Given the description of an element on the screen output the (x, y) to click on. 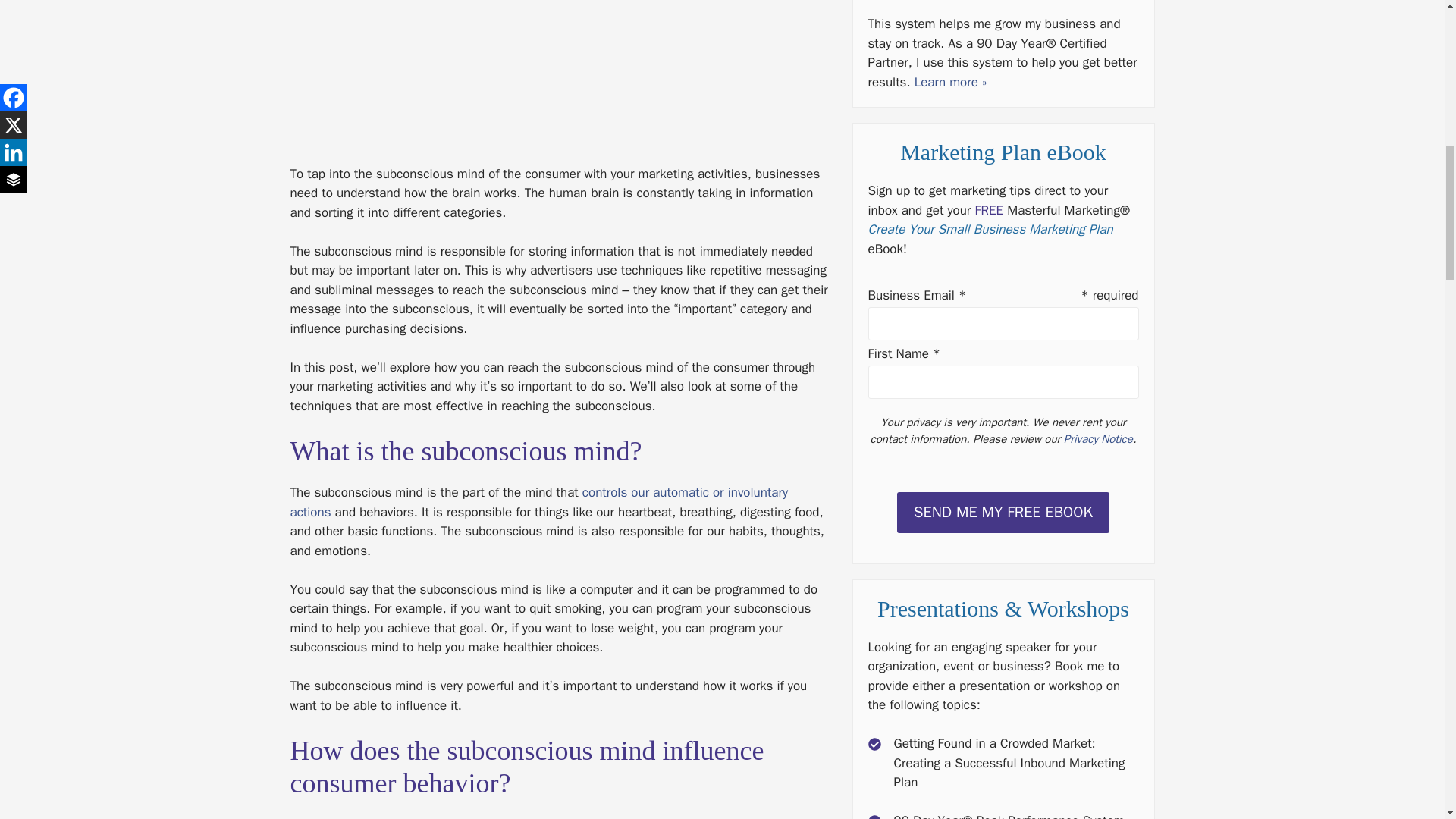
Scroll back to top (1406, 720)
Marketing to Reach the Subconscious Mind of the Consumer (558, 74)
Send me my FREE eBook (1002, 512)
